Given the description of an element on the screen output the (x, y) to click on. 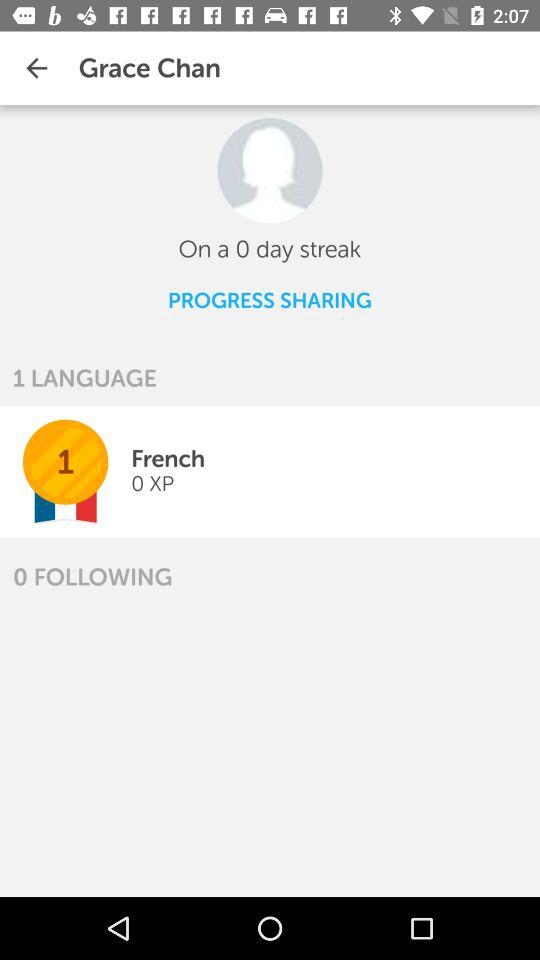
tap item next to grace chan app (36, 68)
